Given the description of an element on the screen output the (x, y) to click on. 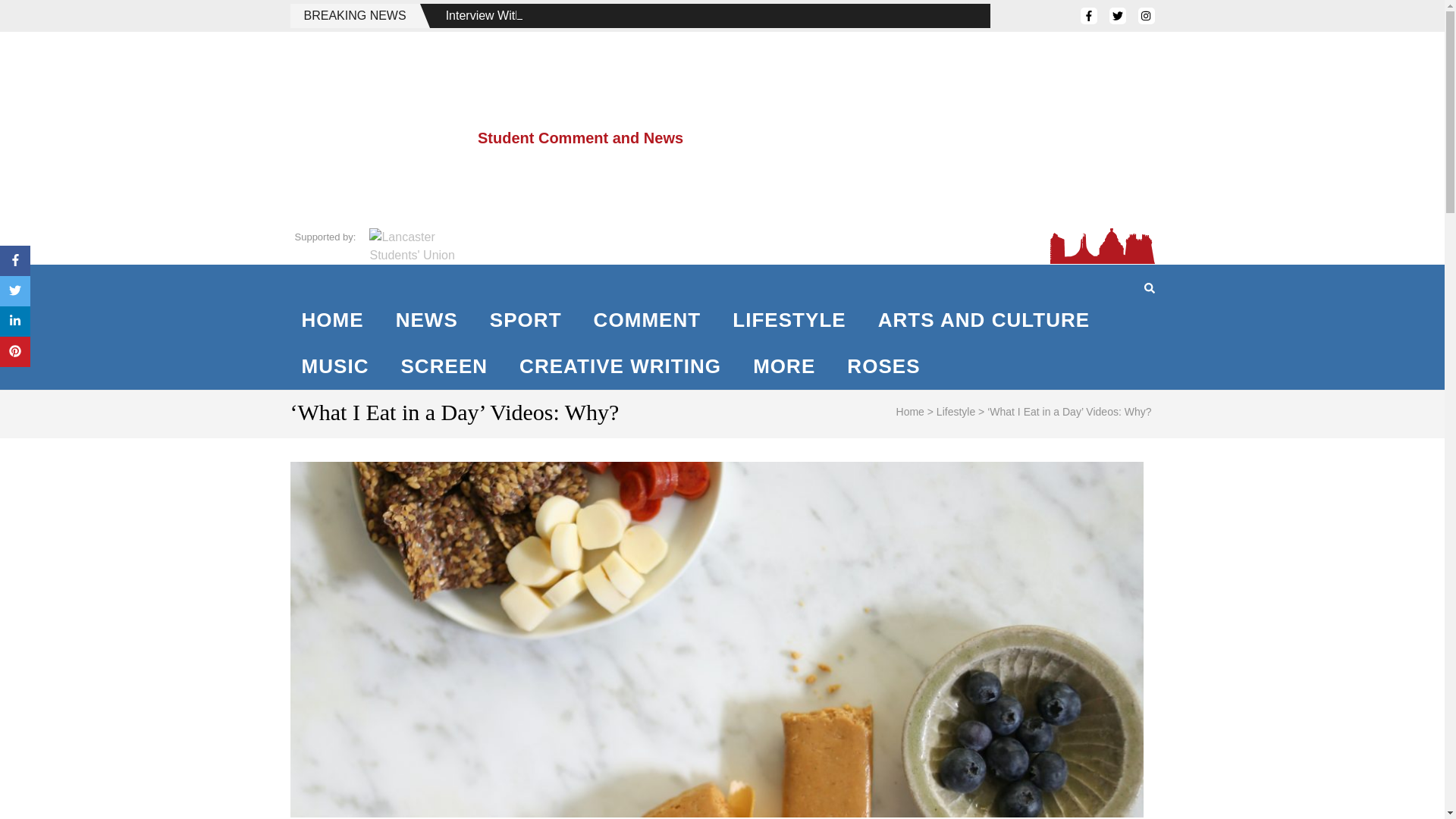
instagram (1145, 15)
ARTS AND CULTURE (984, 320)
SCREEN (443, 366)
ROSES (883, 366)
facebook (1088, 15)
twitter (1116, 15)
BREAKING NEWS (354, 15)
MORE (784, 366)
CREATIVE WRITING (620, 366)
Home (910, 411)
Lancaster Students' Union (414, 246)
HOME (331, 320)
